Given the description of an element on the screen output the (x, y) to click on. 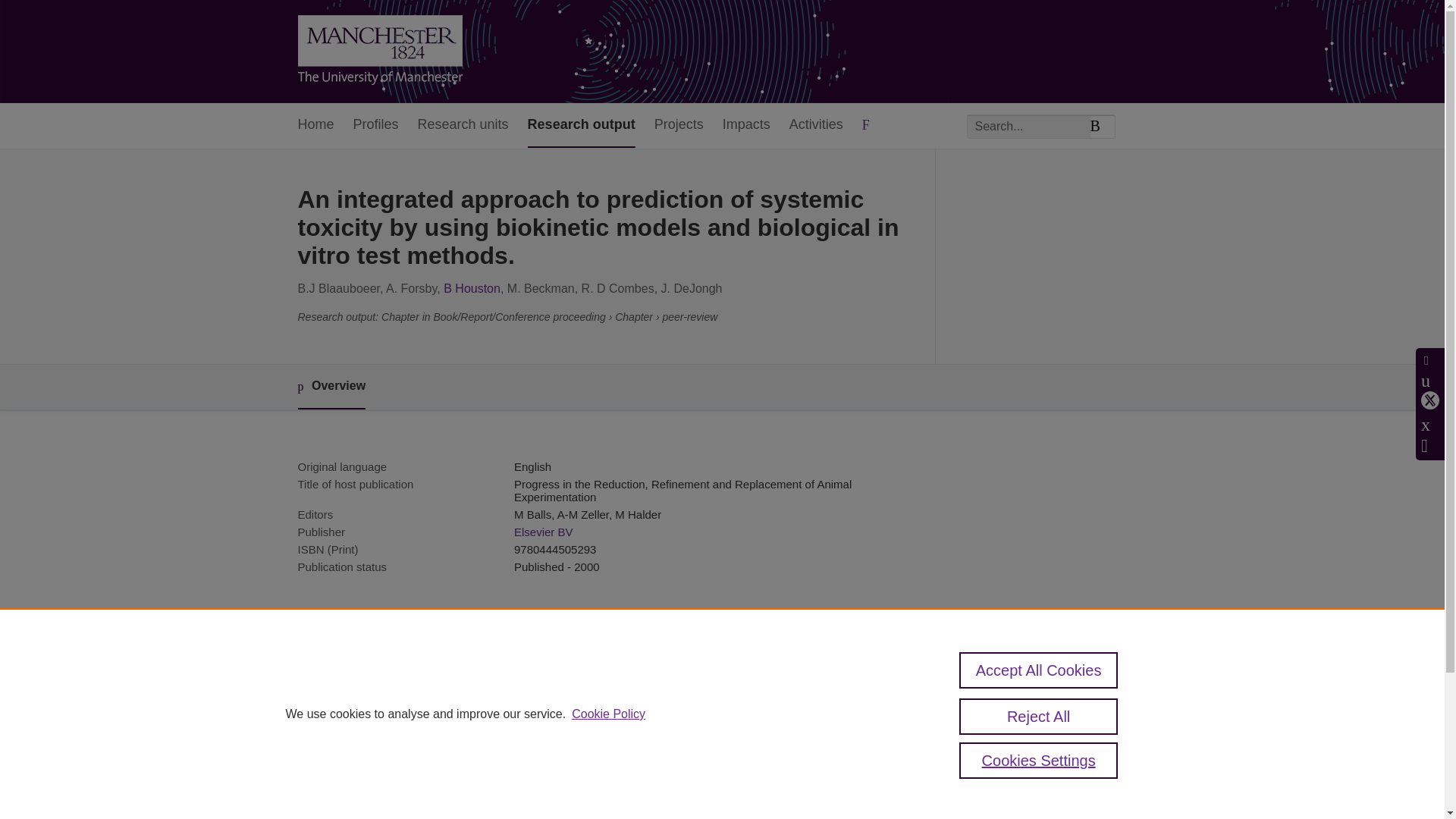
B Houston (472, 287)
Reject All (1038, 716)
Research units (462, 125)
Activities (816, 125)
Elsevier BV (543, 531)
Research Explorer The University of Manchester Home (379, 51)
Profiles (375, 125)
Research output (580, 125)
Impacts (746, 125)
Overview (331, 386)
Cookie Policy (608, 713)
Cookies Settings (1038, 760)
Projects (678, 125)
Accept All Cookies (1038, 669)
